Given the description of an element on the screen output the (x, y) to click on. 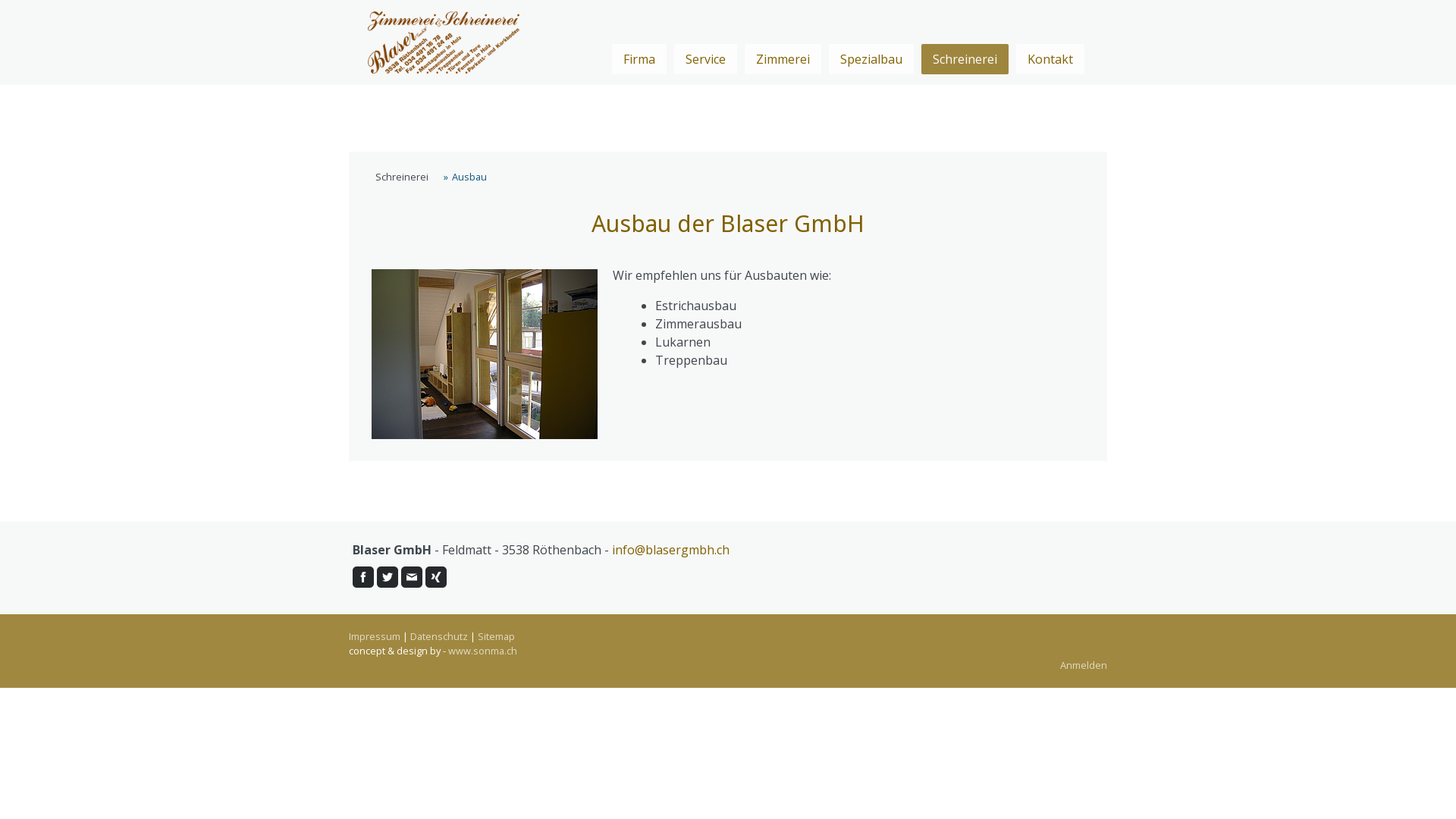
Xing Element type: hover (435, 575)
Anmelden Element type: text (1083, 664)
Datenschutz Element type: text (438, 636)
Firma Element type: text (638, 58)
Ausbau Element type: text (464, 176)
Sitemap Element type: text (495, 636)
Service Element type: text (705, 58)
Schreinerei Element type: text (399, 176)
Spezialbau Element type: text (870, 58)
www.sonma.ch Element type: text (482, 650)
E-Mail Element type: hover (411, 575)
Twitter Element type: hover (387, 575)
Schreinerei Element type: text (964, 58)
info@blasergmbh.ch Element type: text (670, 549)
Kontakt Element type: text (1050, 58)
Impressum Element type: text (374, 636)
Zimmerei Element type: text (782, 58)
Facebook Element type: hover (362, 575)
